Given the description of an element on the screen output the (x, y) to click on. 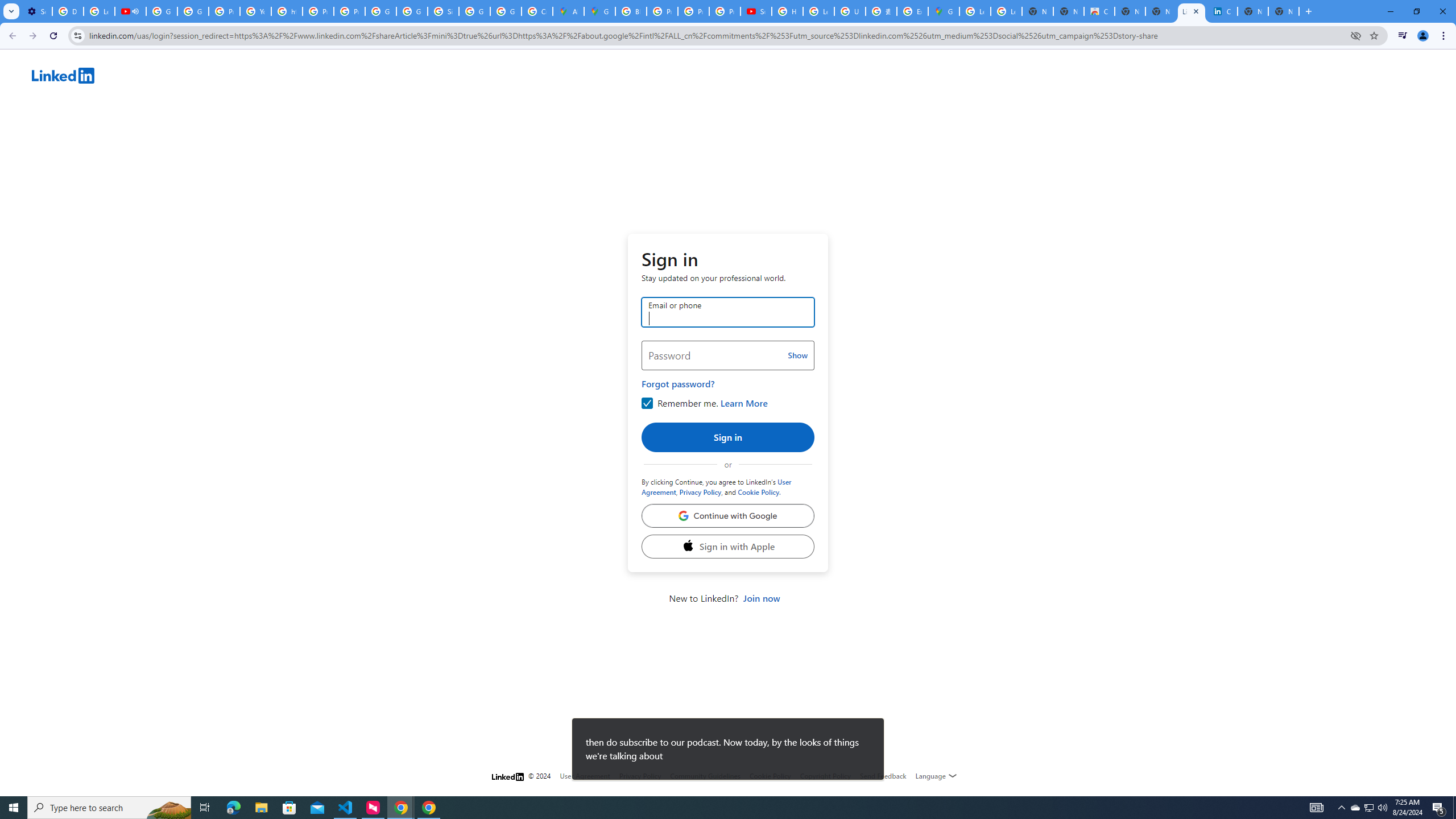
User Agreement (584, 775)
Remember me. (645, 410)
Google Maps (943, 11)
Send Feedback (883, 775)
Delete photos & videos - Computer - Google Photos Help (67, 11)
Show (797, 354)
Privacy Help Center - Policies Help (662, 11)
Copyright Policy (824, 775)
